Given the description of an element on the screen output the (x, y) to click on. 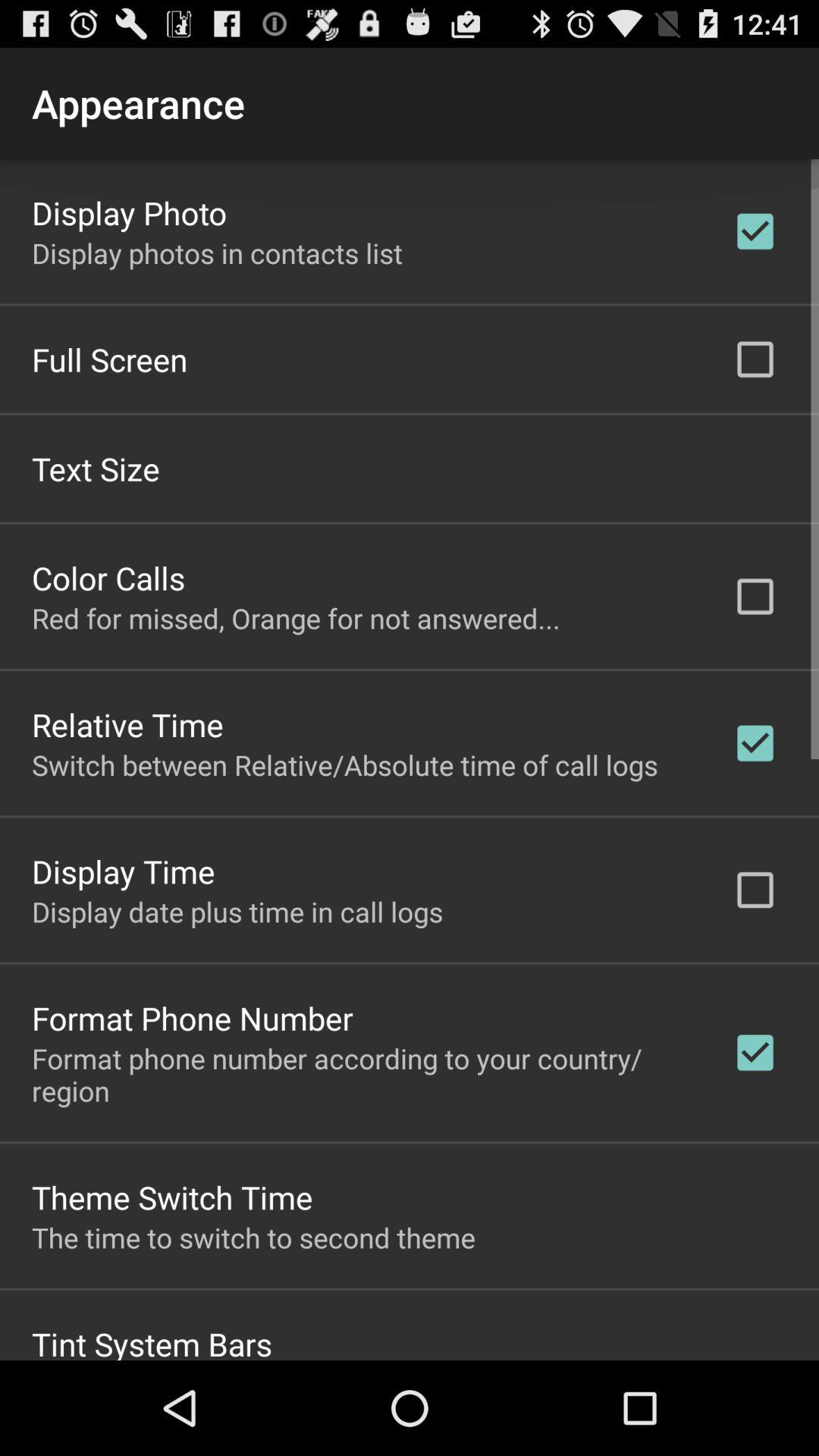
swipe to tint system bars (151, 1340)
